Given the description of an element on the screen output the (x, y) to click on. 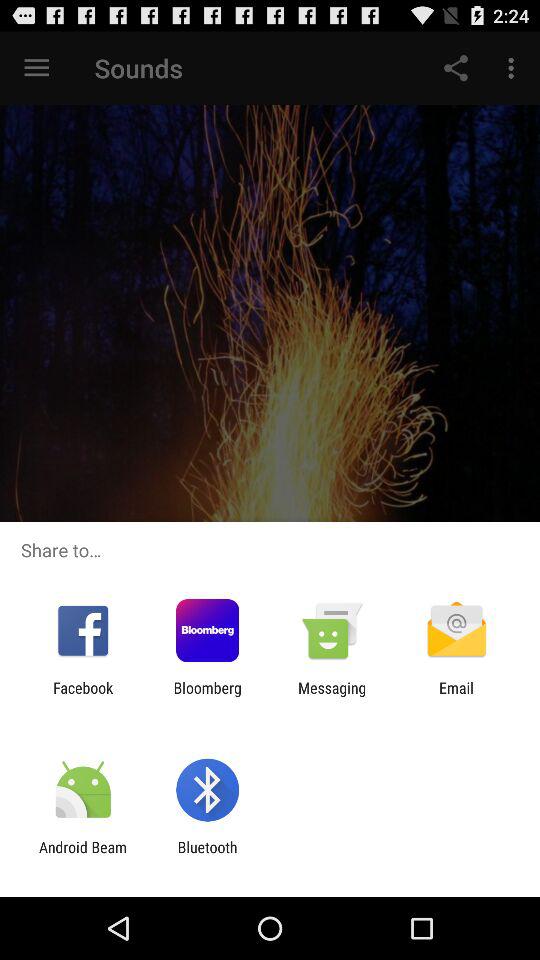
turn on item to the left of bloomberg (83, 696)
